Given the description of an element on the screen output the (x, y) to click on. 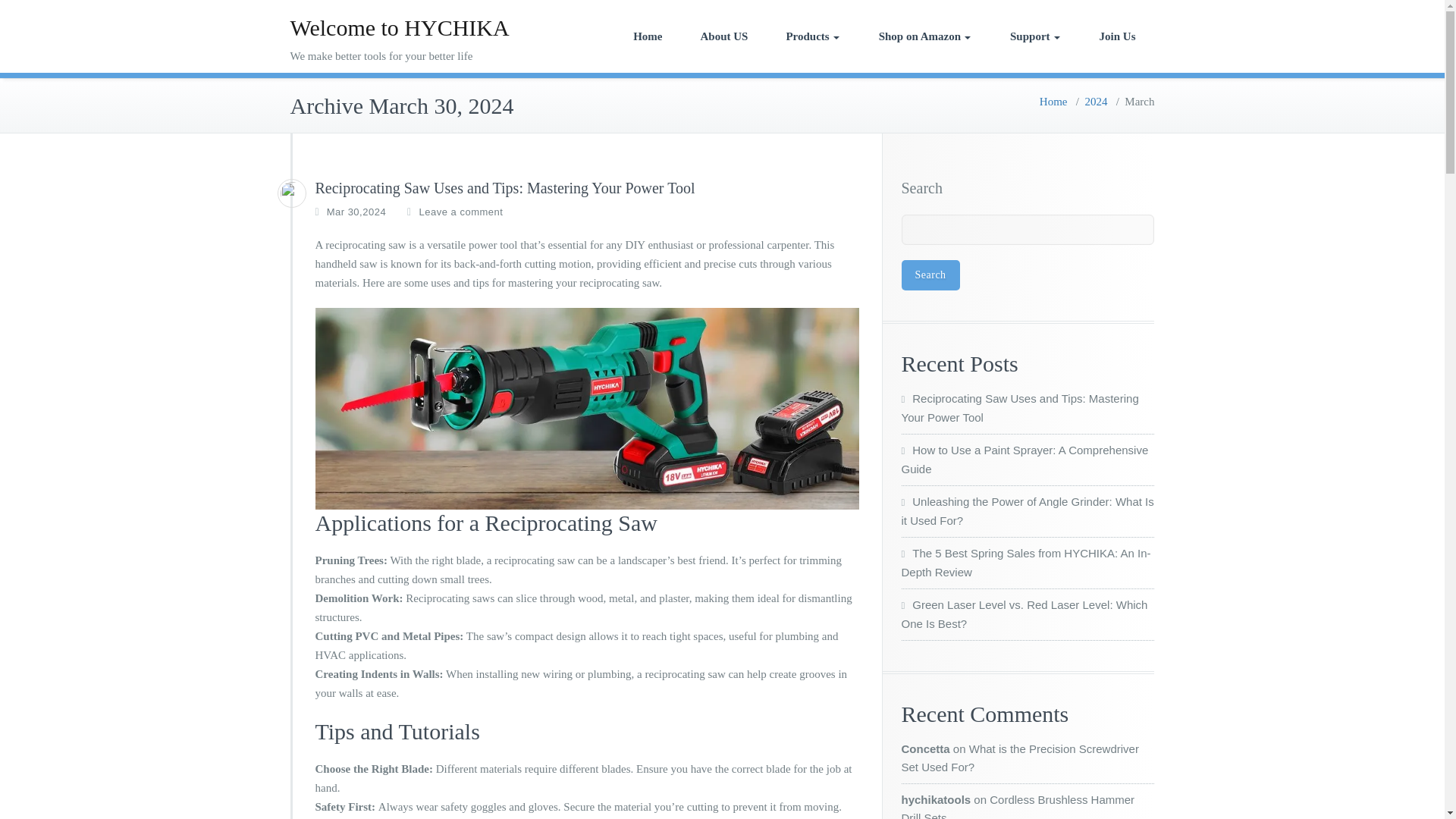
Welcome to HYCHIKA (398, 27)
Home (1053, 101)
Join Us (1117, 36)
About US (724, 36)
Leave a comment (461, 212)
Support (1034, 36)
Products (812, 36)
Reciprocating Saw Uses and Tips: Mastering Your Power Tool (505, 187)
Mar 30,2024 (356, 212)
Shop on Amazon (925, 36)
Home (647, 36)
2024 (1095, 101)
